Given the description of an element on the screen output the (x, y) to click on. 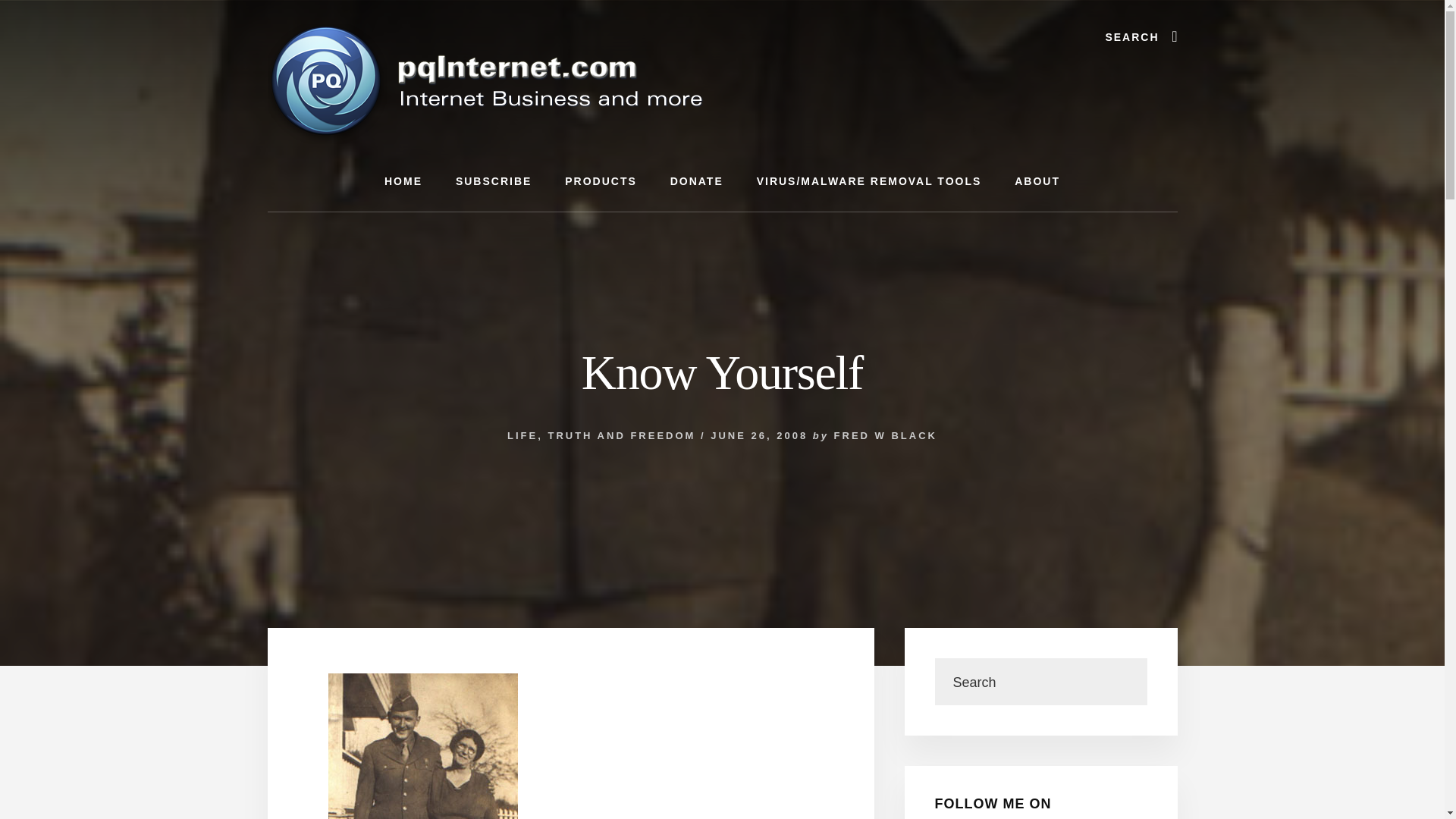
DONATE (696, 181)
HOME (403, 181)
ABOUT (1036, 181)
SUBSCRIBE (494, 181)
TRUTH AND FREEDOM (621, 435)
FRED W BLACK (885, 435)
PRODUCTS (601, 181)
LIFE (521, 435)
